Given the description of an element on the screen output the (x, y) to click on. 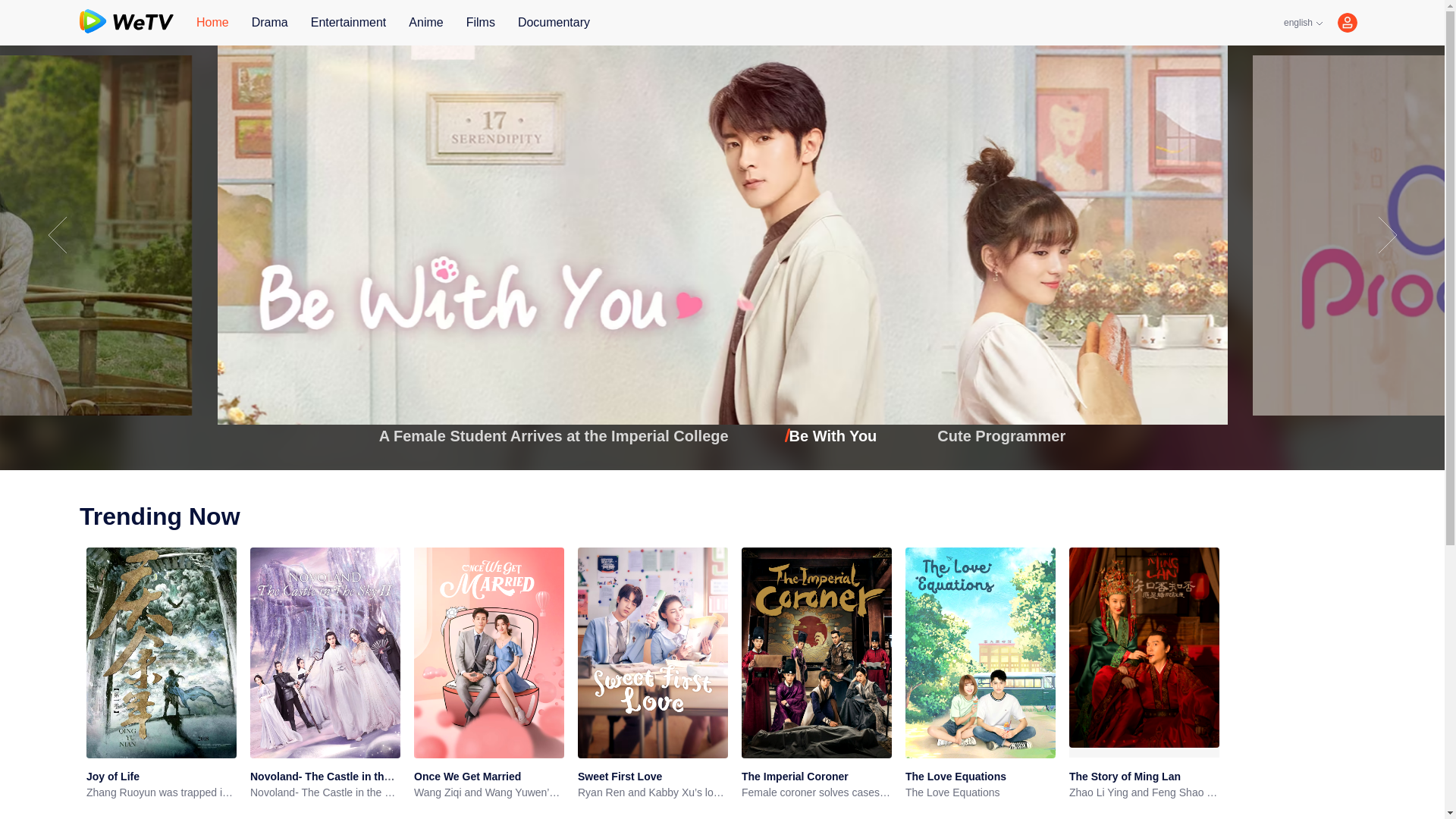
The Imperial Coroner (794, 776)
Sweet First Love (620, 776)
Home (212, 22)
Anime (425, 22)
Sweet First Love (620, 776)
A Female Student Arrives at the Imperial College (553, 436)
Be With You (833, 436)
Once We Get Married (467, 776)
The Love Equations (955, 776)
Novoland- The Castle in the Sky S2 (325, 792)
